Given the description of an element on the screen output the (x, y) to click on. 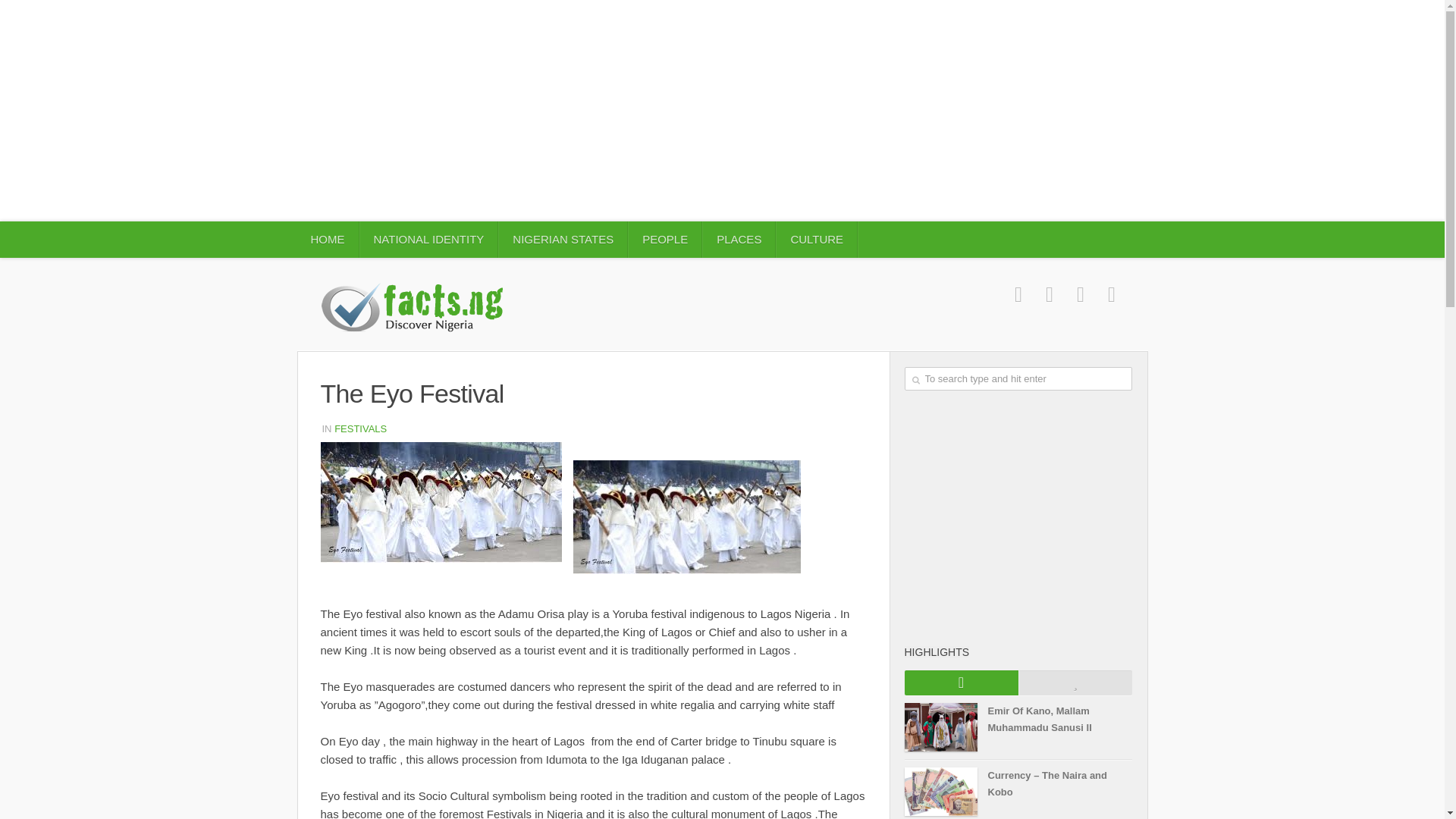
NATIONAL IDENTITY (428, 239)
Email (1110, 294)
Advertisement (1017, 515)
Facebook (1019, 294)
PEOPLE (664, 239)
FESTIVALS (360, 428)
HOME (327, 239)
NIGERIAN STATES (563, 239)
To search type and hit enter (1017, 378)
